Given the description of an element on the screen output the (x, y) to click on. 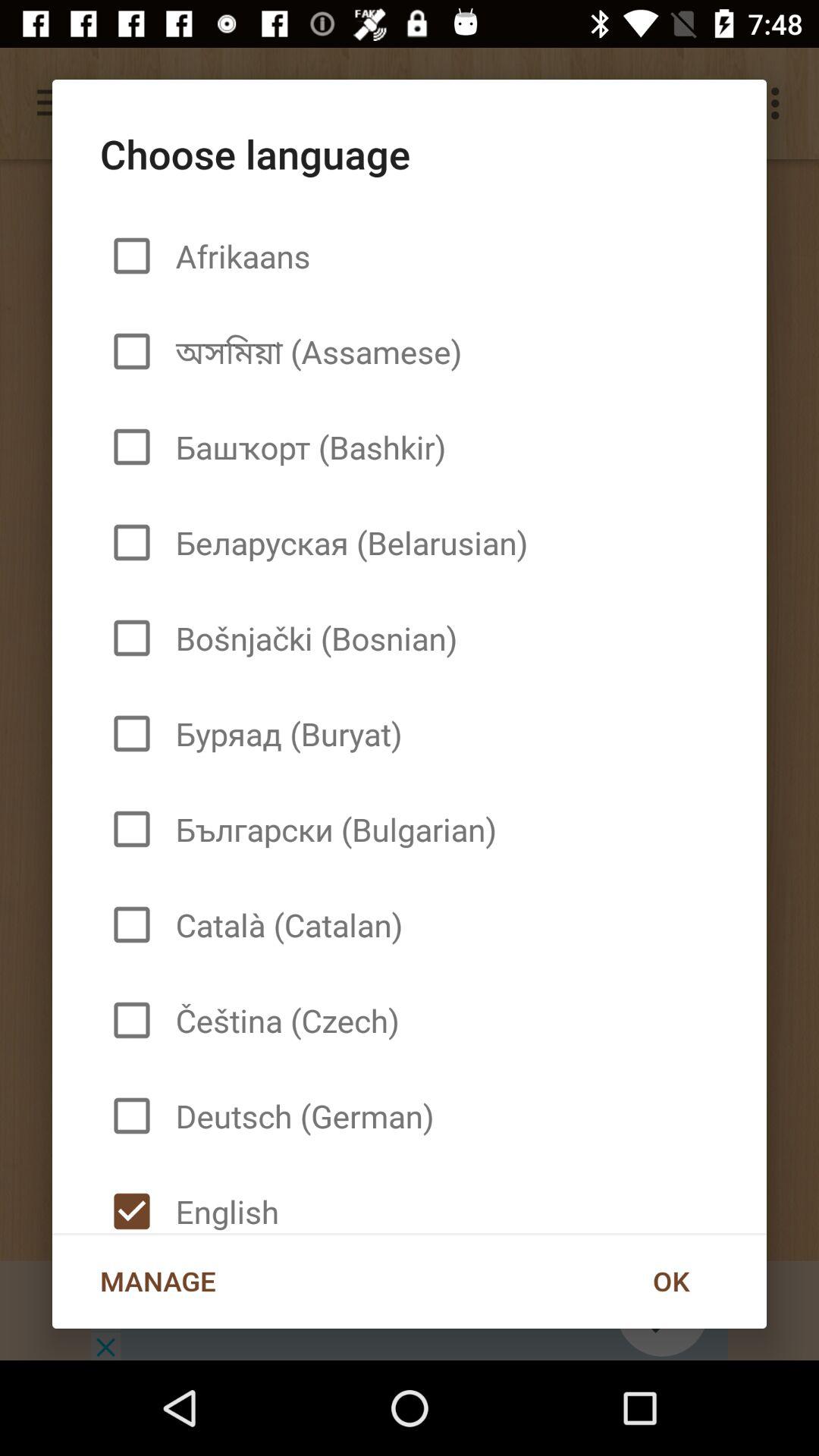
turn off item to the left of ok item (158, 1280)
